Given the description of an element on the screen output the (x, y) to click on. 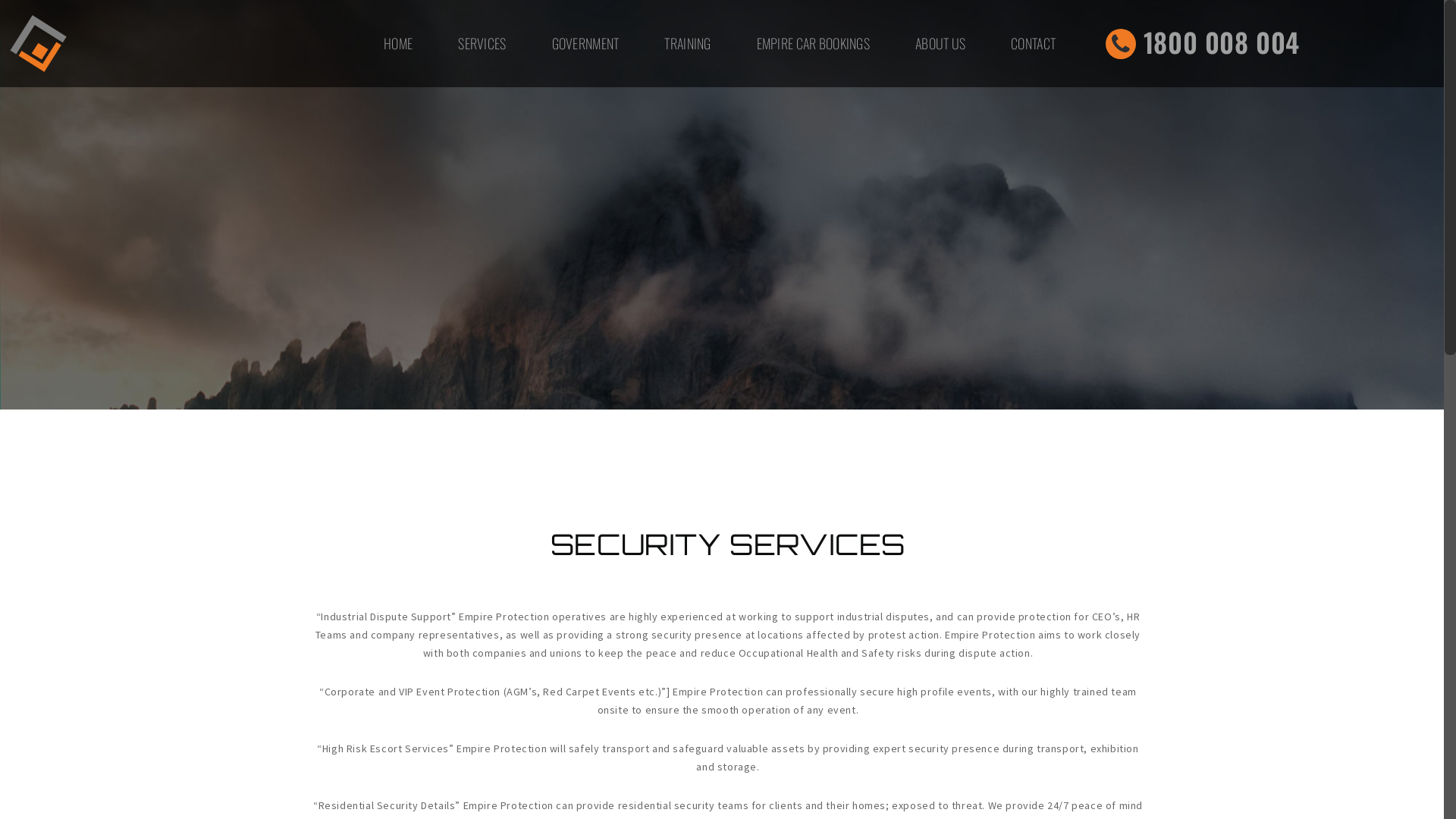
TRAINING Element type: text (687, 43)
Site by Paul Kelly Creative Element type: text (684, 663)
  Element type: text (862, 614)
ABOUT US Element type: text (940, 43)
1800 008 004 Element type: text (667, 613)
CONTACT Element type: text (1033, 43)
SERVICES Element type: text (481, 43)
EMPIRE CAR BOOKINGS Element type: text (813, 43)
GOVERNMENT Element type: text (585, 43)
1800 008 004 Element type: text (1202, 47)
privacy policy Element type: text (801, 662)
  Element type: text (821, 615)
HOME Element type: text (397, 43)
